Given the description of an element on the screen output the (x, y) to click on. 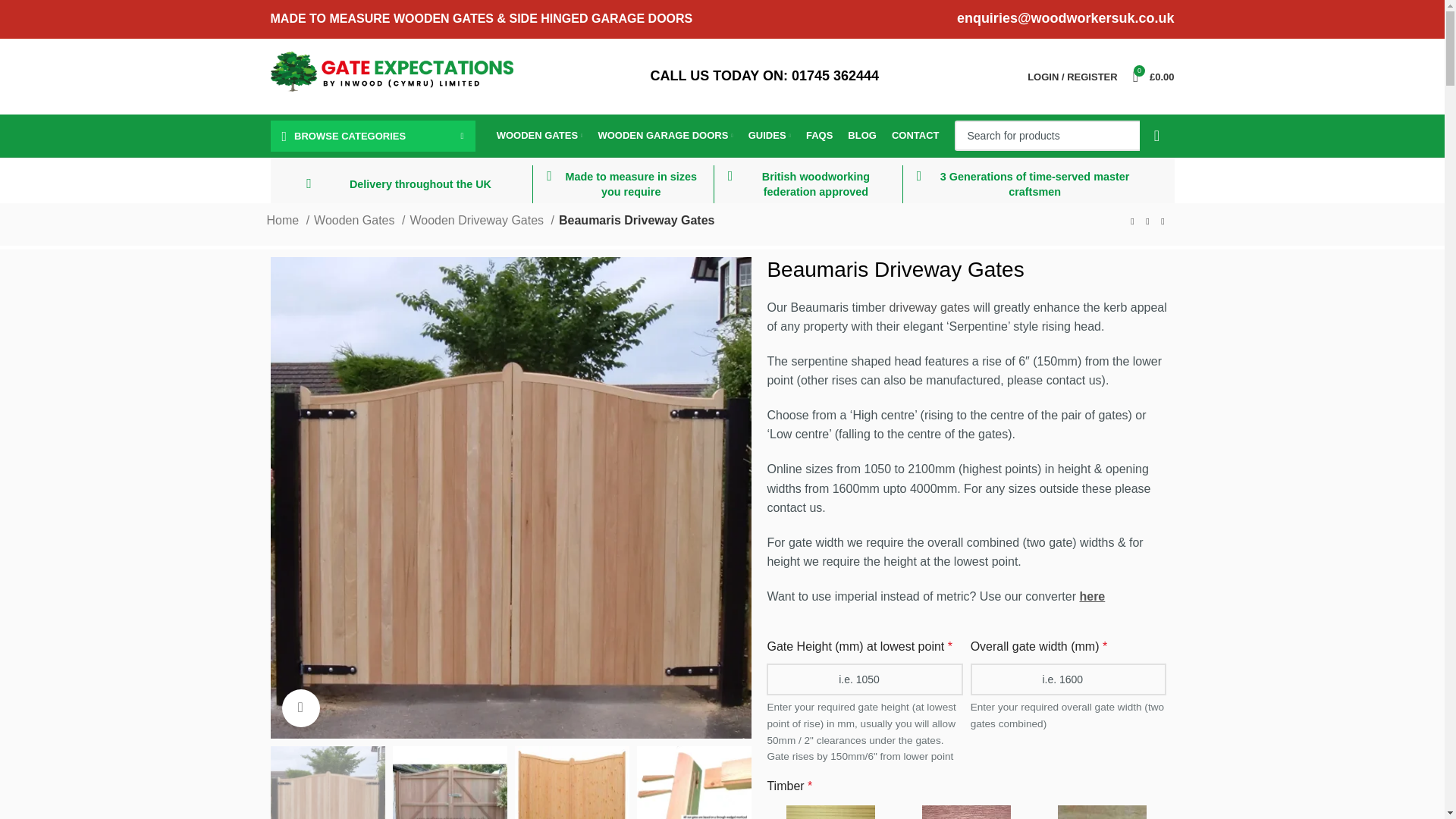
WOODEN GATES (539, 135)
01745 362444 (835, 75)
Search for products (1063, 135)
Shopping cart (1153, 76)
My account (1072, 76)
